Given the description of an element on the screen output the (x, y) to click on. 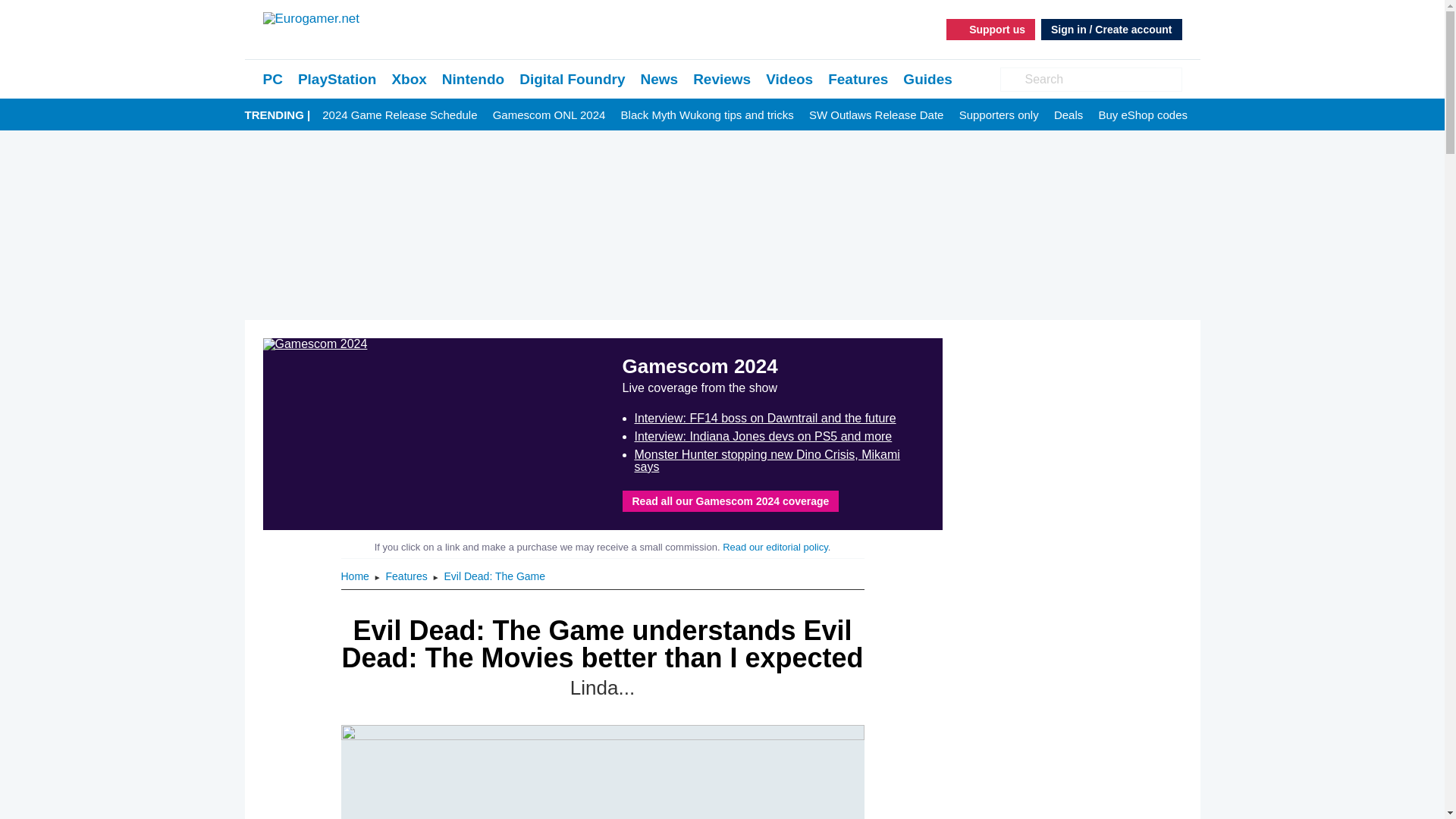
Gamescom 2024 (433, 433)
Guides (927, 78)
Monster Hunter stopping new Dino Crisis, Mikami says (766, 460)
Reviews (722, 78)
Home (356, 576)
Evil Dead: The Game (494, 576)
Read our editorial policy (775, 546)
Buy eShop codes (1142, 114)
SW Outlaws Release Date (876, 114)
Supporters only (999, 114)
